Given the description of an element on the screen output the (x, y) to click on. 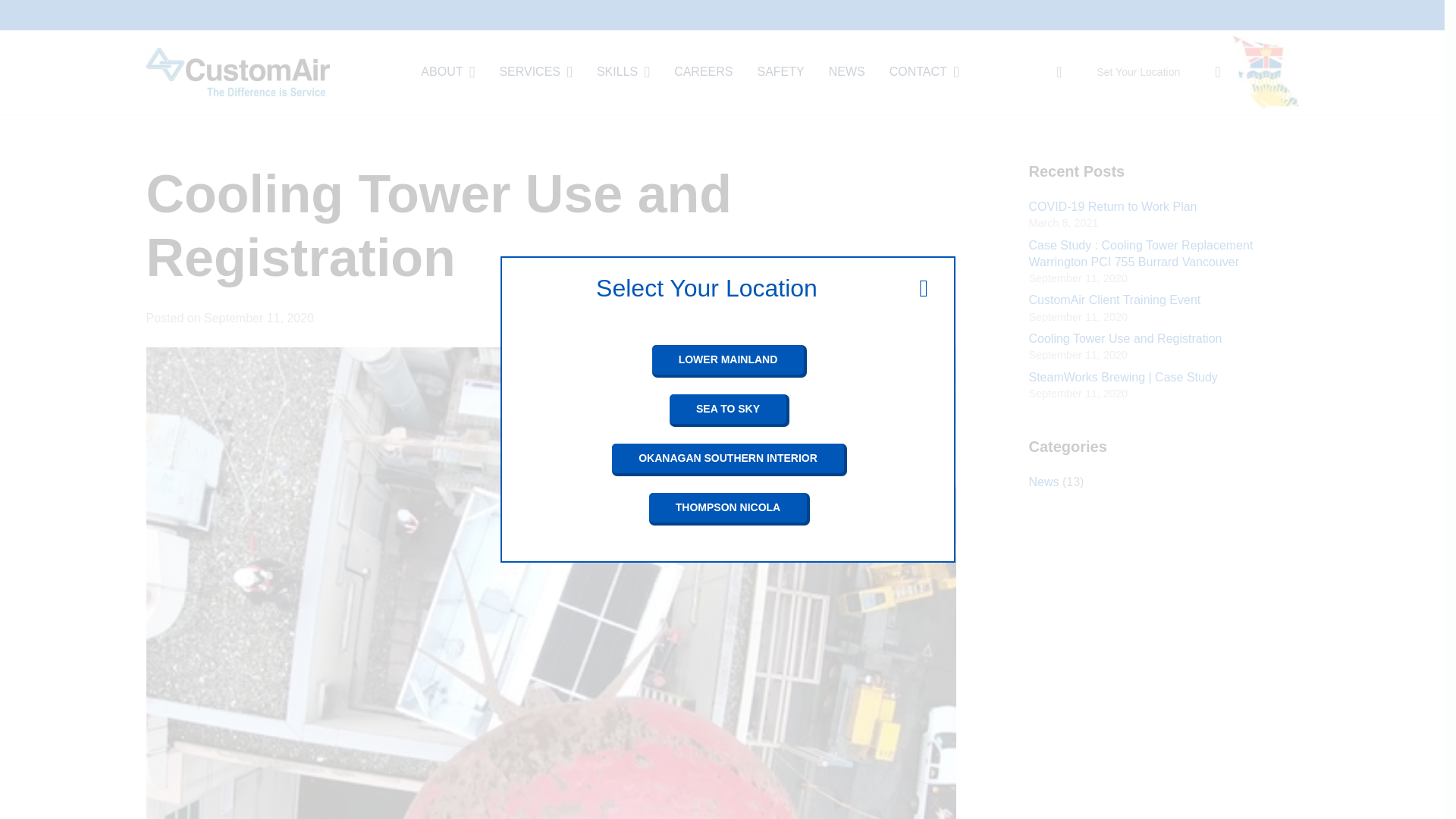
ABOUT (447, 71)
SAFETY (779, 71)
NEWS (846, 71)
SERVICES (535, 71)
CONTACT (924, 71)
CAREERS (703, 71)
COVID-19 Return to Work Plan (1111, 205)
News (1042, 481)
Cooling Tower Use and Registration (1124, 338)
SKILLS (623, 71)
CustomAir Client Training Event (1113, 299)
